Given the description of an element on the screen output the (x, y) to click on. 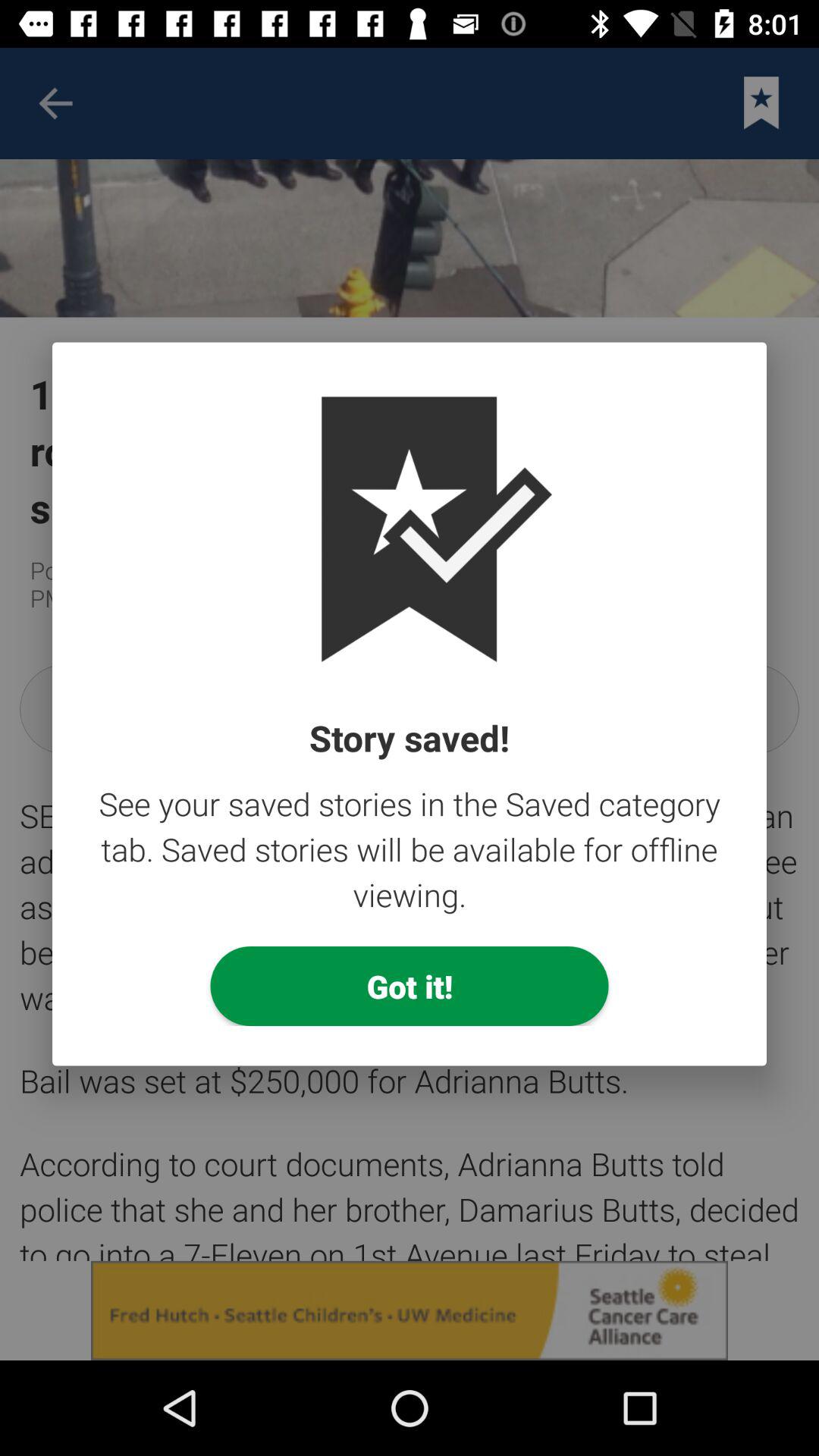
jump to the got it! (409, 986)
